Given the description of an element on the screen output the (x, y) to click on. 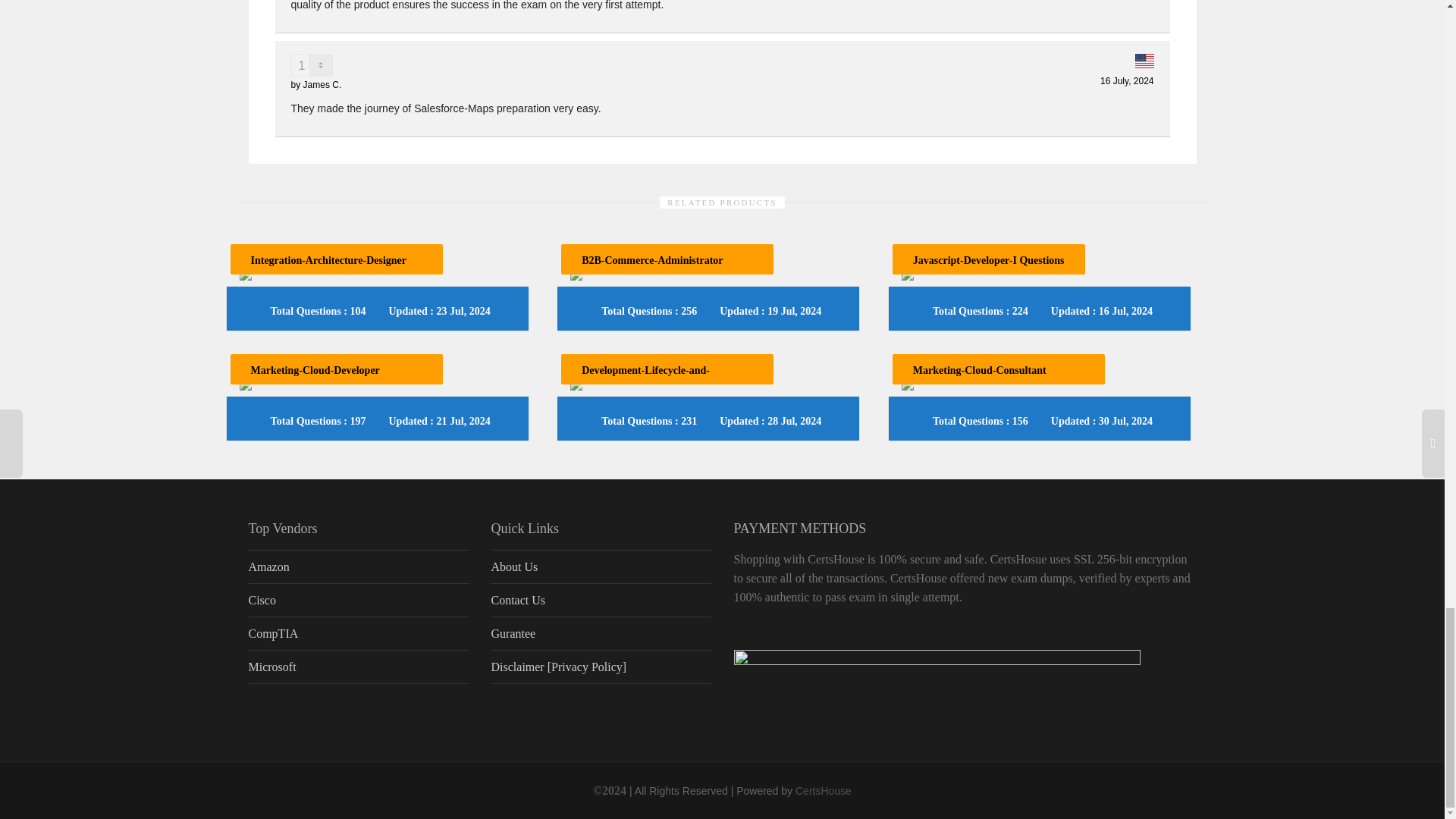
Marketing-Cloud-Developer Questions (314, 379)
CompTIA (358, 633)
Cisco (358, 600)
Integration-Architecture-Designer Questions (328, 269)
Gurantee (601, 633)
Development-Lifecycle-and-Deployment-Designer Questions (653, 379)
Javascript-Developer-I Questions (988, 260)
Microsoft (358, 666)
Javascript-Developer-I Questions (988, 260)
Marketing-Cloud-Developer Questions (314, 379)
